Given the description of an element on the screen output the (x, y) to click on. 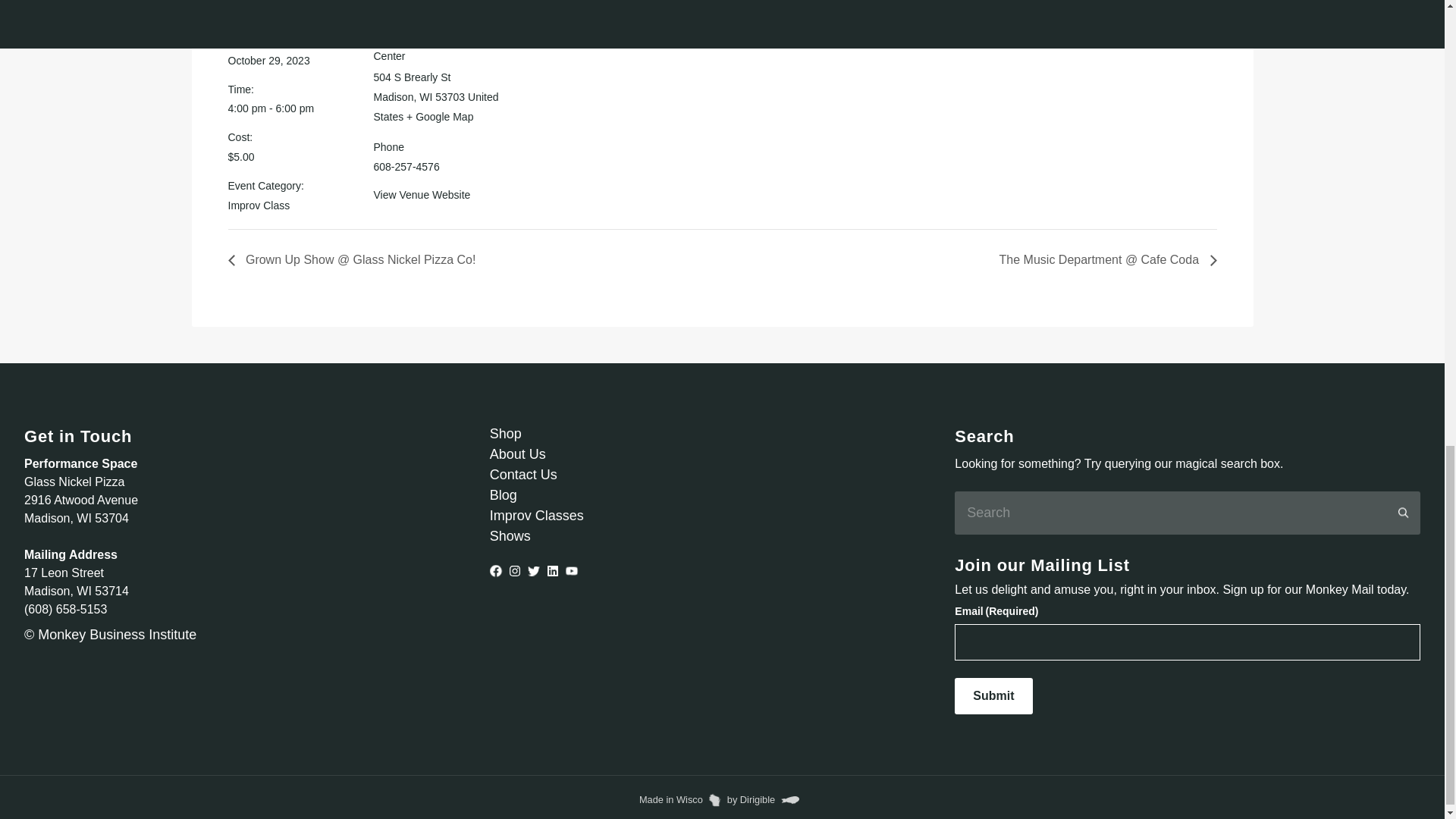
Submit (993, 696)
Improv Class (258, 205)
Wil-Mar Neighborhood Center (425, 48)
